Given the description of an element on the screen output the (x, y) to click on. 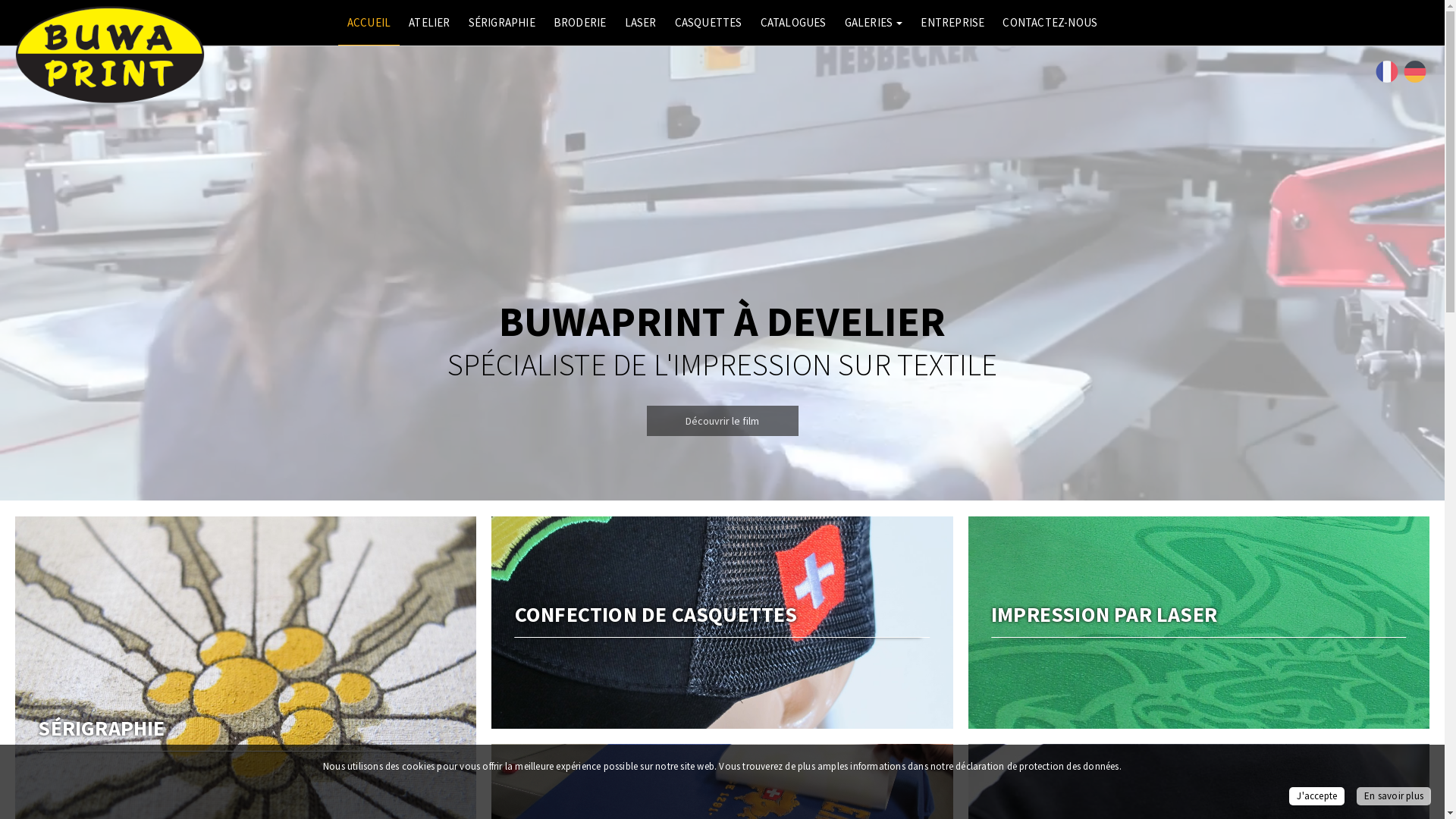
LASER Element type: text (640, 22)
ACCUEIL Element type: text (368, 22)
BRODERIE Element type: text (579, 22)
Deutsch Element type: hover (1414, 71)
En savoir plus Element type: text (1393, 796)
GALERIES Element type: text (873, 22)
ENTREPRISE Element type: text (952, 22)
CASQUETTES Element type: text (708, 22)
J'accepte Element type: text (1316, 796)
CATALOGUES Element type: text (792, 22)
ATELIER Element type: text (428, 22)
IMPRESSION PAR LASER Element type: text (1198, 622)
CONFECTION DE CASQUETTES Element type: text (721, 622)
CONTACTEZ-NOUS Element type: text (1049, 22)
